Given the description of an element on the screen output the (x, y) to click on. 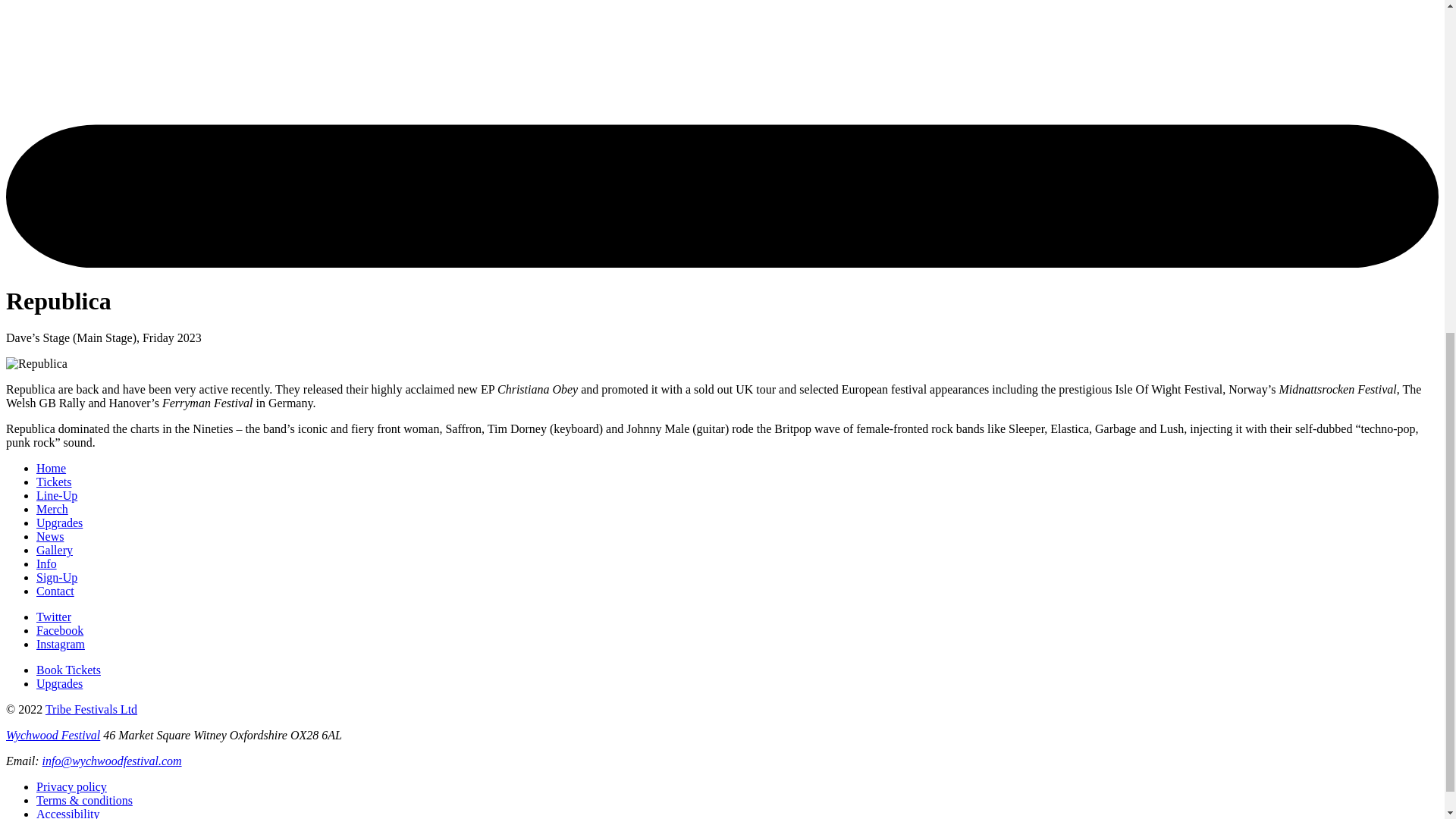
Contact details related to The Wychwood Festival. (55, 590)
Buy your Tickets for the Wychwood Festival. (53, 481)
To: pre-order 2024 Wychwood Festival merchandise online. (52, 508)
Line-Up (56, 495)
Privacy policy (71, 786)
See options to upgrade your Wychwood Festival experience. (59, 522)
Buy your Tickets for the Wychwood Festival. (68, 669)
To Wychwood Festival's Facebook page. (59, 630)
Twitter (53, 616)
Wychwood Festival (52, 735)
